Given the description of an element on the screen output the (x, y) to click on. 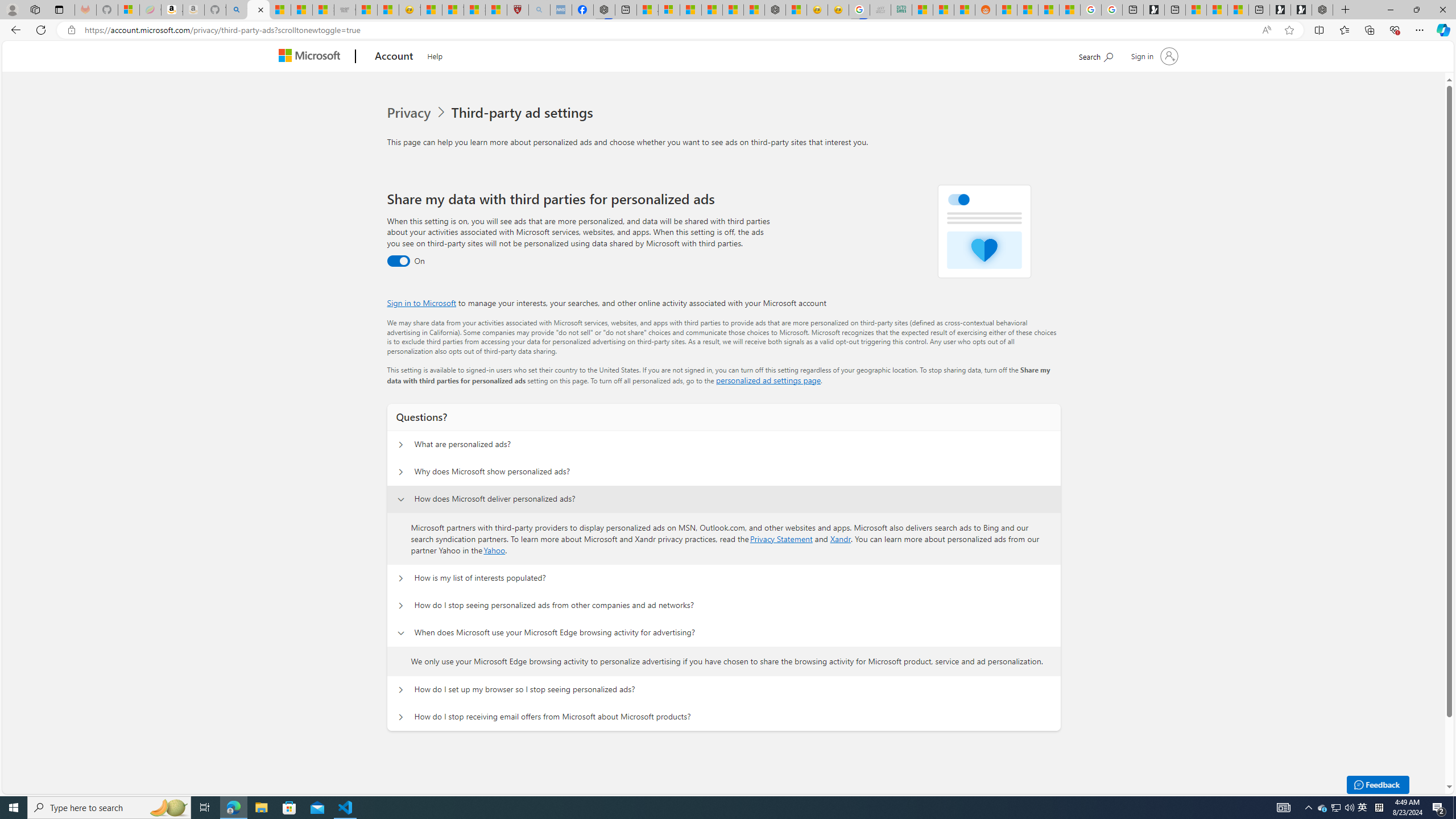
Third-party ad settings (523, 112)
Robert H. Shmerling, MD - Harvard Health (517, 9)
12 Popular Science Lies that Must be Corrected (496, 9)
